Given the description of an element on the screen output the (x, y) to click on. 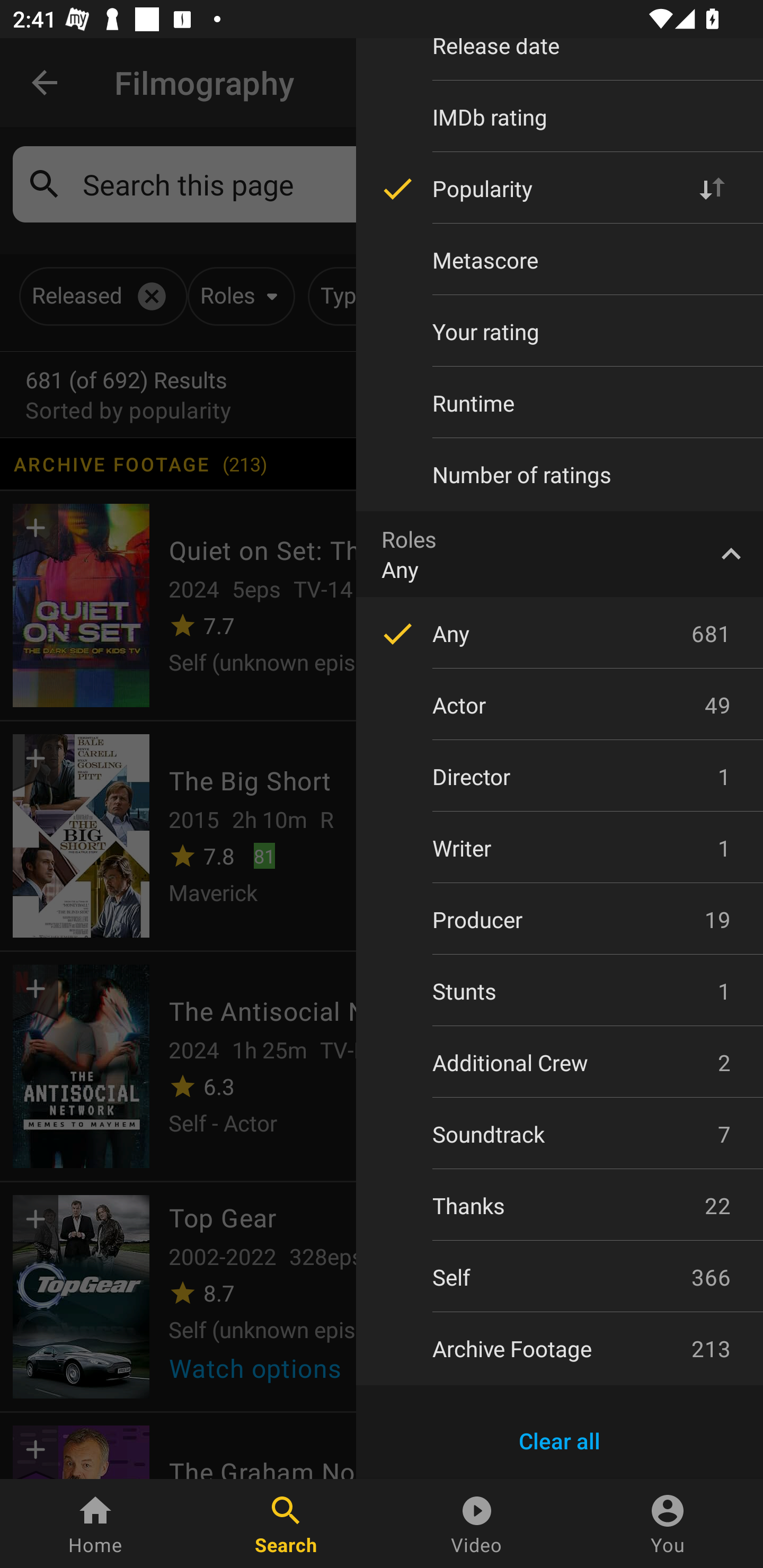
Release date (559, 58)
IMDb rating (559, 116)
Popularity (559, 188)
Metascore (559, 259)
Your rating (559, 331)
Runtime (559, 402)
Number of ratings (559, 474)
Roles Any (559, 554)
Any 681 (559, 632)
Actor 49 (559, 704)
Director 1 (559, 776)
Writer 1 (559, 847)
Producer 19 (559, 919)
Stunts 1 (559, 990)
Additional Crew 2 (559, 1062)
Soundtrack 7 (559, 1134)
Thanks 22 (559, 1205)
Self 366 (559, 1276)
Archive Footage 213 (559, 1347)
Clear all (559, 1440)
Home (95, 1523)
Video (476, 1523)
You (667, 1523)
